Given the description of an element on the screen output the (x, y) to click on. 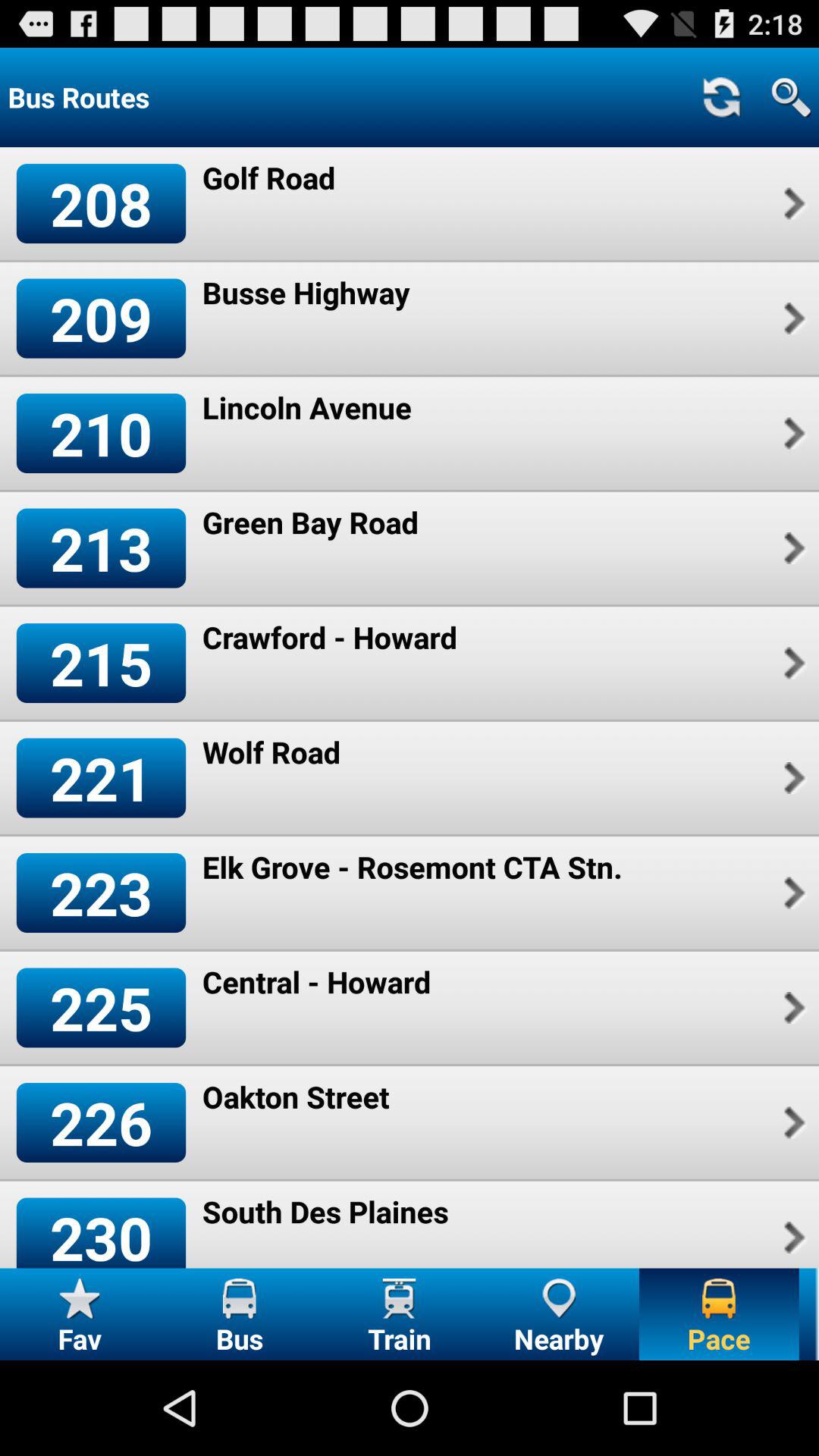
click on the arrow which is left to text crawfordhoward (793, 663)
click on the nearby icon (559, 1313)
